Given the description of an element on the screen output the (x, y) to click on. 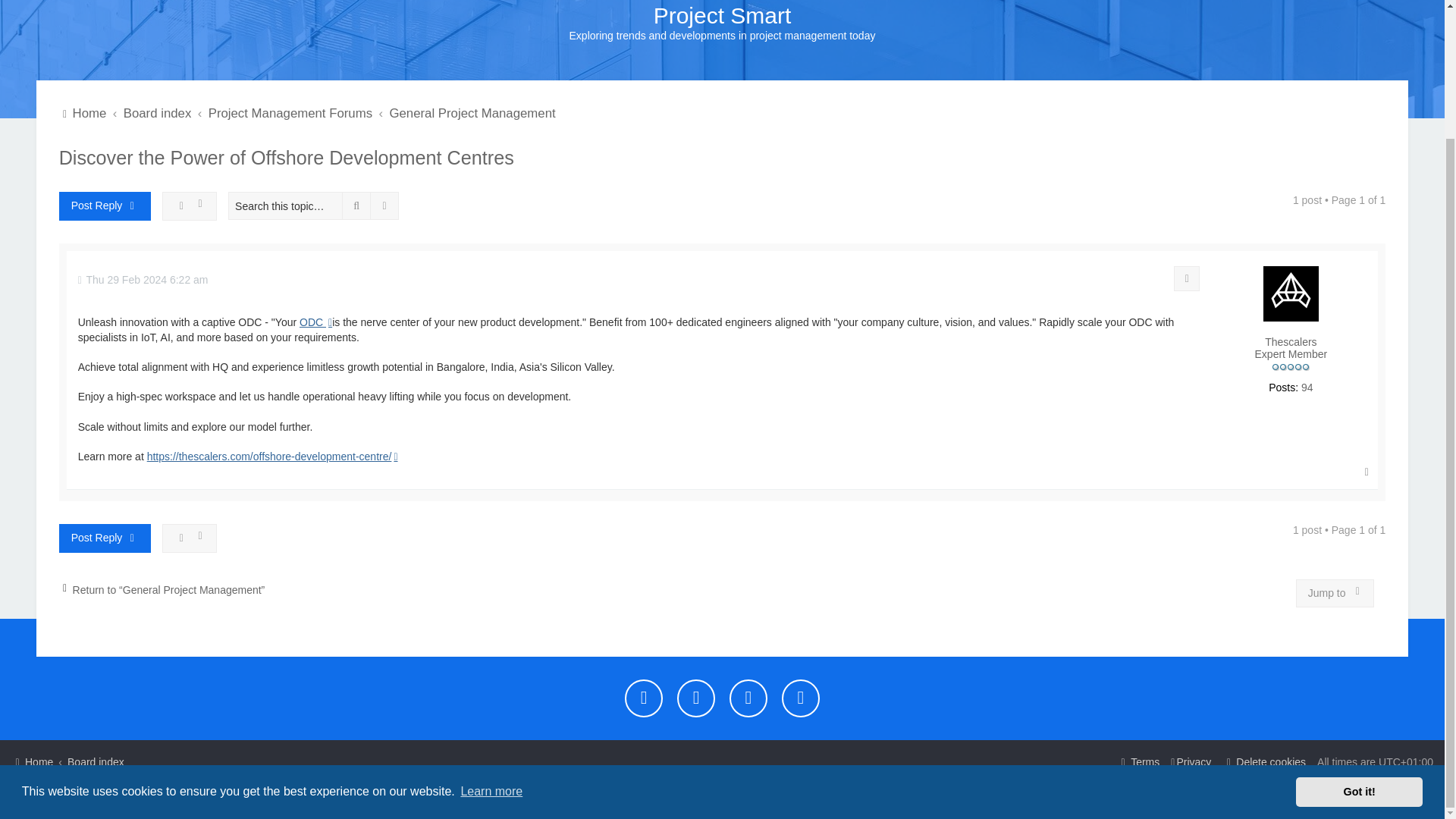
General Project Management (471, 113)
Search (356, 205)
Got it! (1358, 634)
Board index (157, 113)
Expert Member (1290, 367)
Board index (157, 113)
Thu 29 Feb 2024 6:22 am (143, 279)
Topic tools (188, 205)
Home (82, 113)
Project Management Forums (290, 113)
ODC (315, 322)
Project Management Forums (290, 113)
Thescalers (1290, 341)
Post (143, 279)
Post Reply (105, 205)
